Given the description of an element on the screen output the (x, y) to click on. 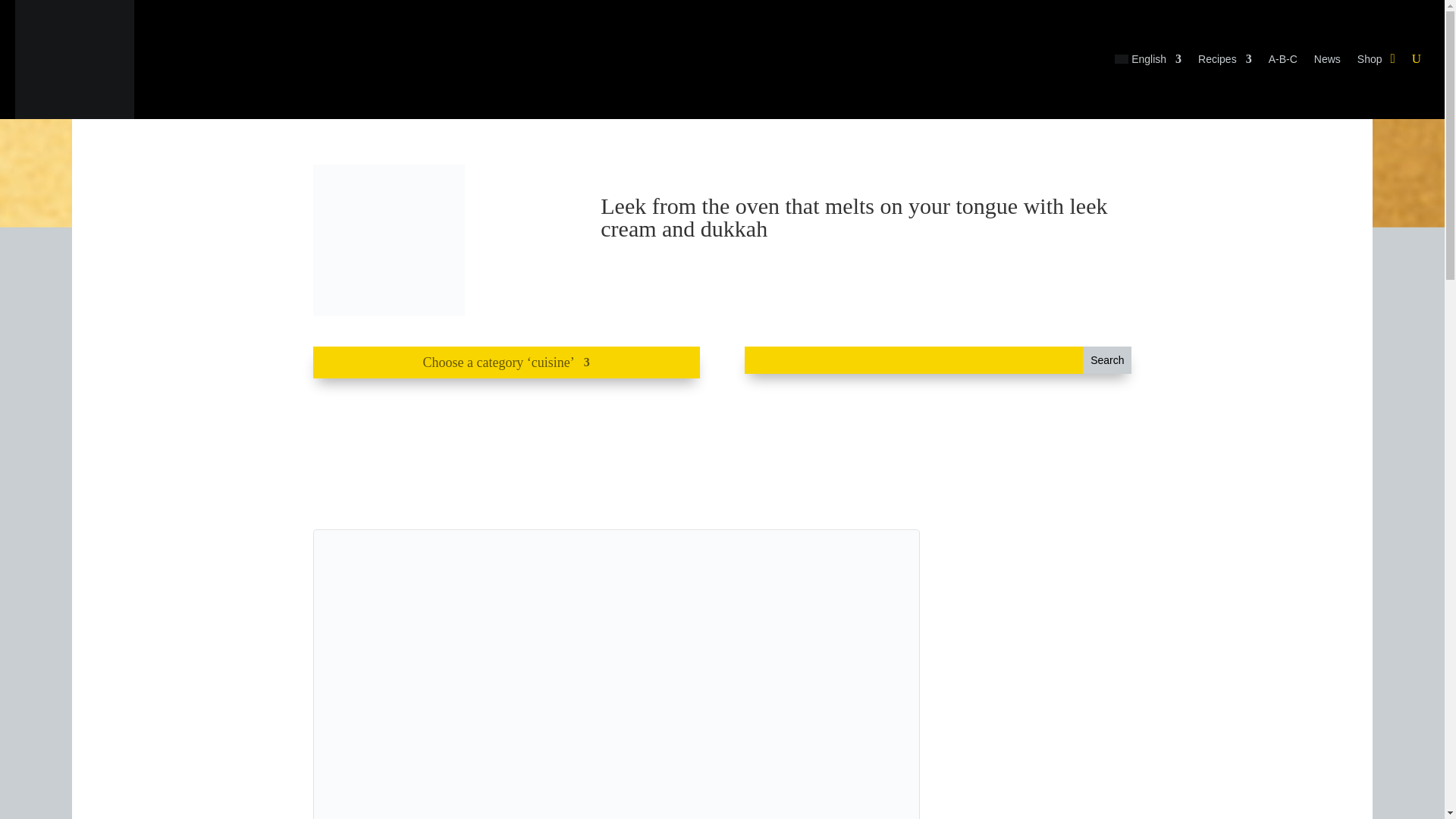
Search (1107, 359)
Search (1107, 359)
Search (1107, 359)
